Given the description of an element on the screen output the (x, y) to click on. 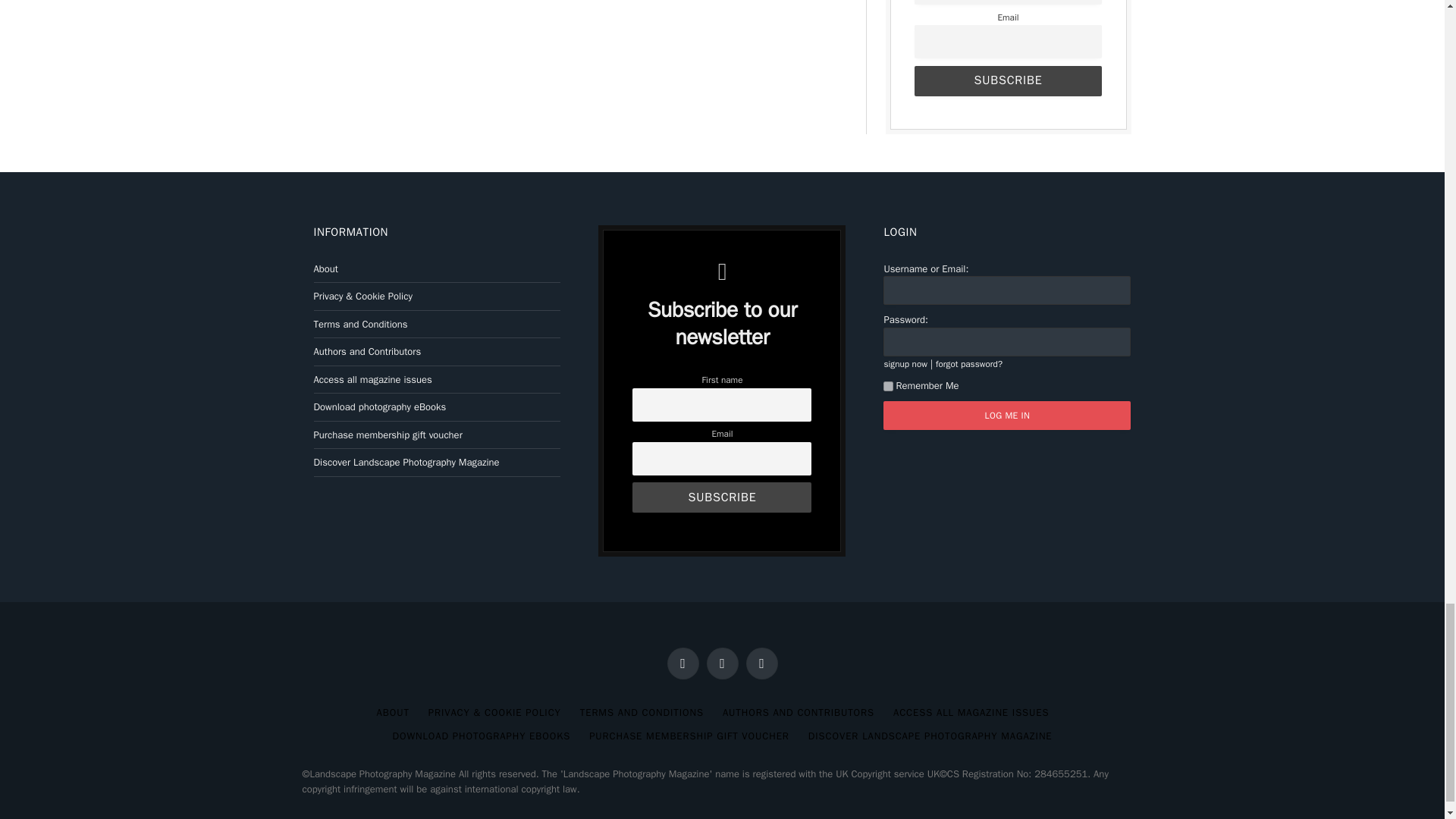
Log Me In (1007, 415)
forever (888, 386)
Subscribe (720, 497)
Password (1007, 341)
Username (1007, 290)
Subscribe (1007, 81)
